Given the description of an element on the screen output the (x, y) to click on. 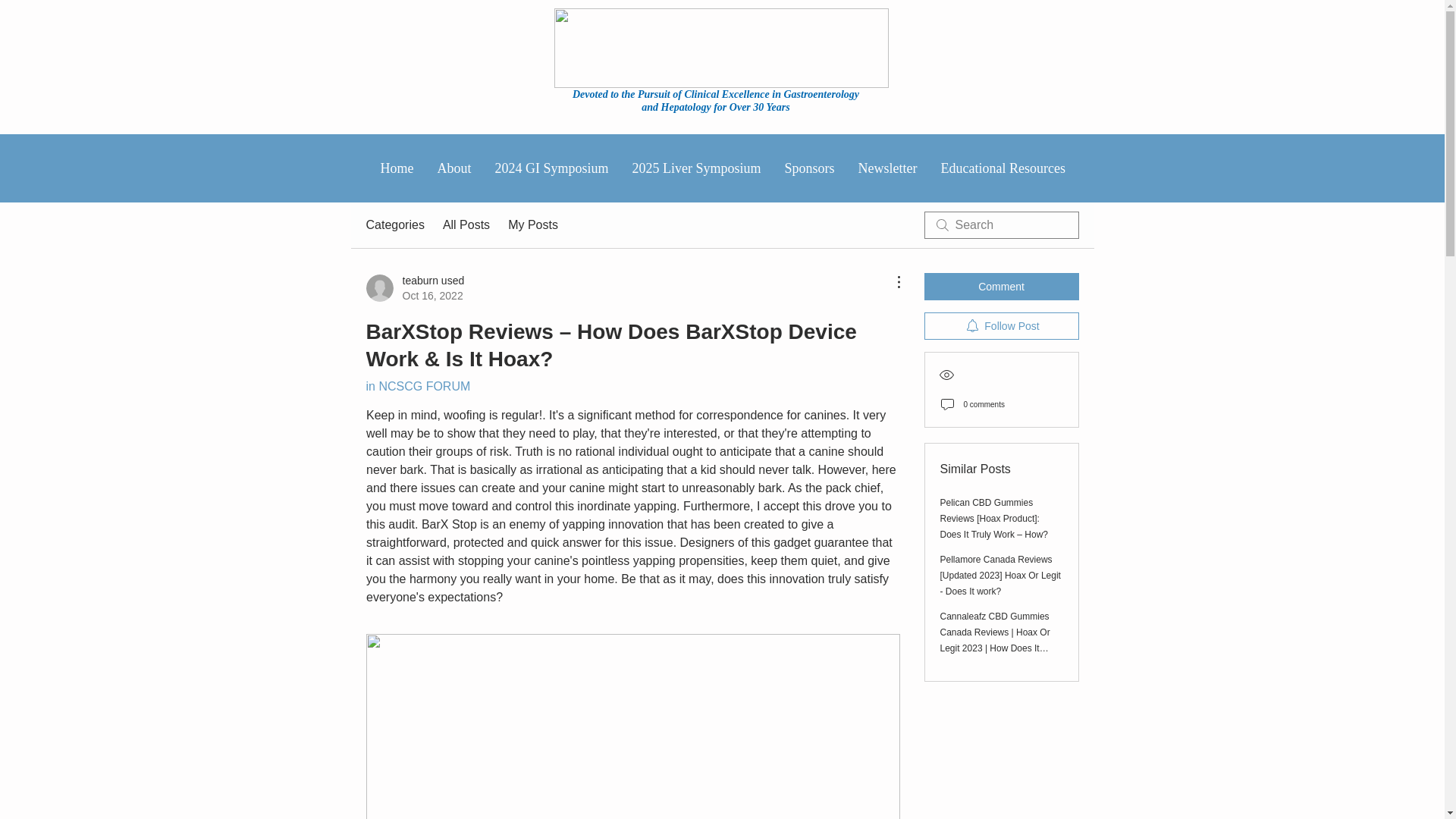
Home (396, 168)
About (453, 168)
Categories (394, 225)
2025 Liver Symposium (696, 168)
My Posts (532, 225)
2024 GI Symposium (550, 168)
Newsletter (886, 168)
in NCSCG FORUM (414, 287)
Educational Resources (417, 386)
All Posts (1001, 168)
